Given the description of an element on the screen output the (x, y) to click on. 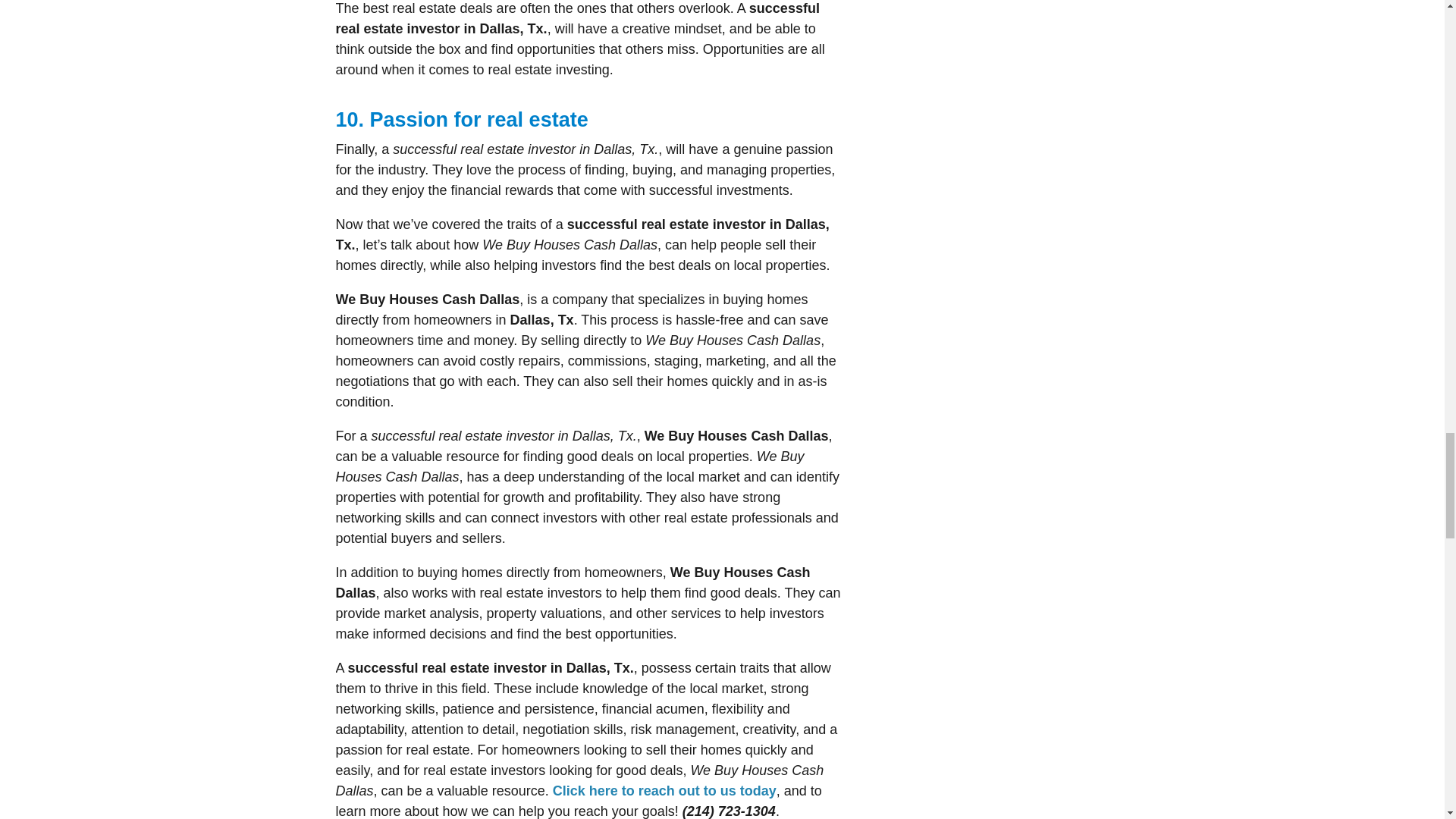
Click here to reach out to us today (664, 790)
